Given the description of an element on the screen output the (x, y) to click on. 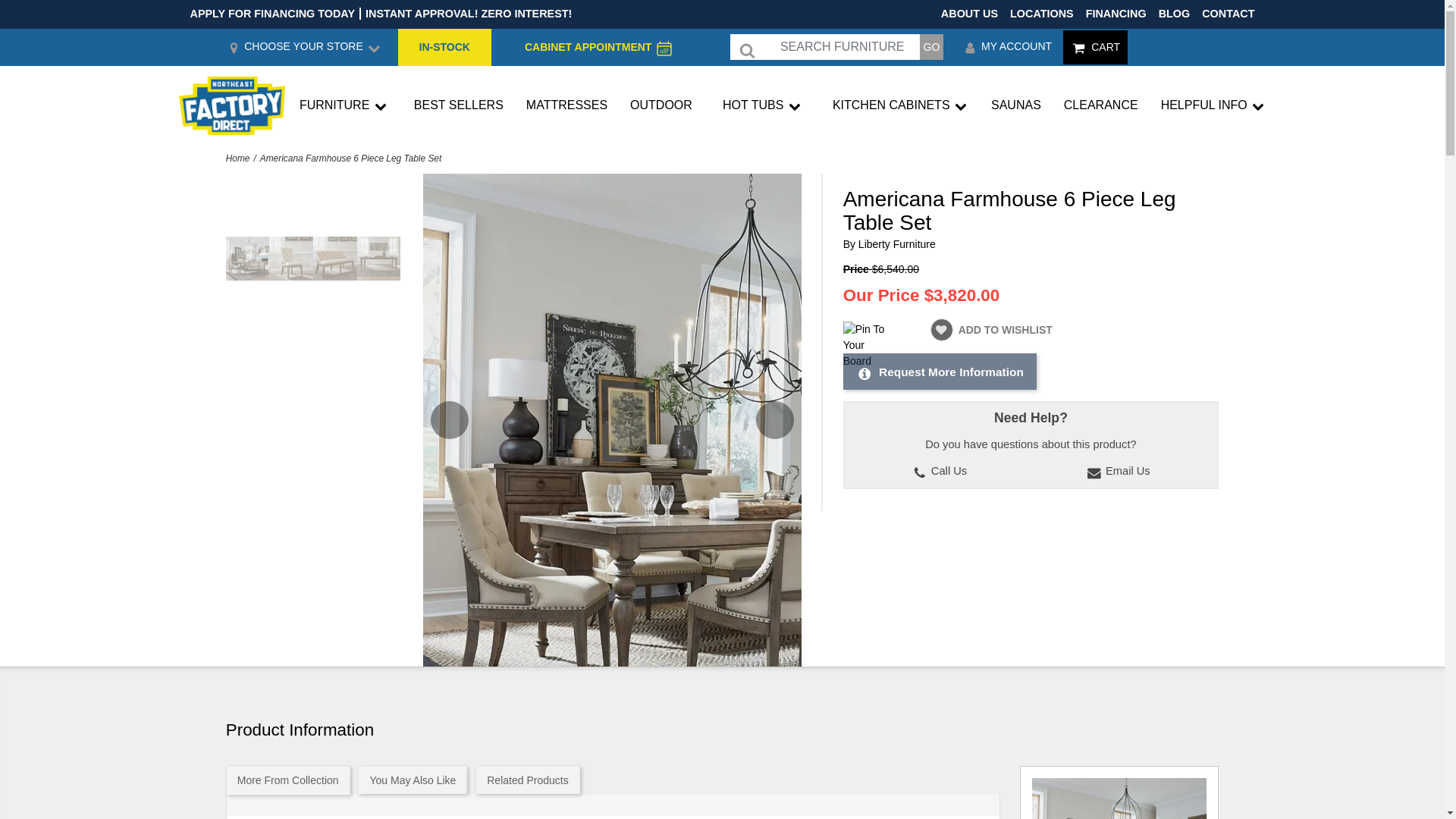
APPLY FOR FINANCING TODAYINSTANT APPROVAL! ZERO INTEREST! (380, 13)
View Cart (1095, 47)
FINANCING (1116, 13)
Go (930, 46)
Change Your Store (303, 47)
Pin This (865, 345)
FURNITURE (344, 105)
ABOUT US (968, 13)
Go (930, 46)
MY ACCOUNT (1006, 47)
IN-STOCK (444, 47)
CART (1095, 47)
My Account (1006, 47)
BLOG (1174, 13)
CABINET APPOINTMENT (590, 47)
